Given the description of an element on the screen output the (x, y) to click on. 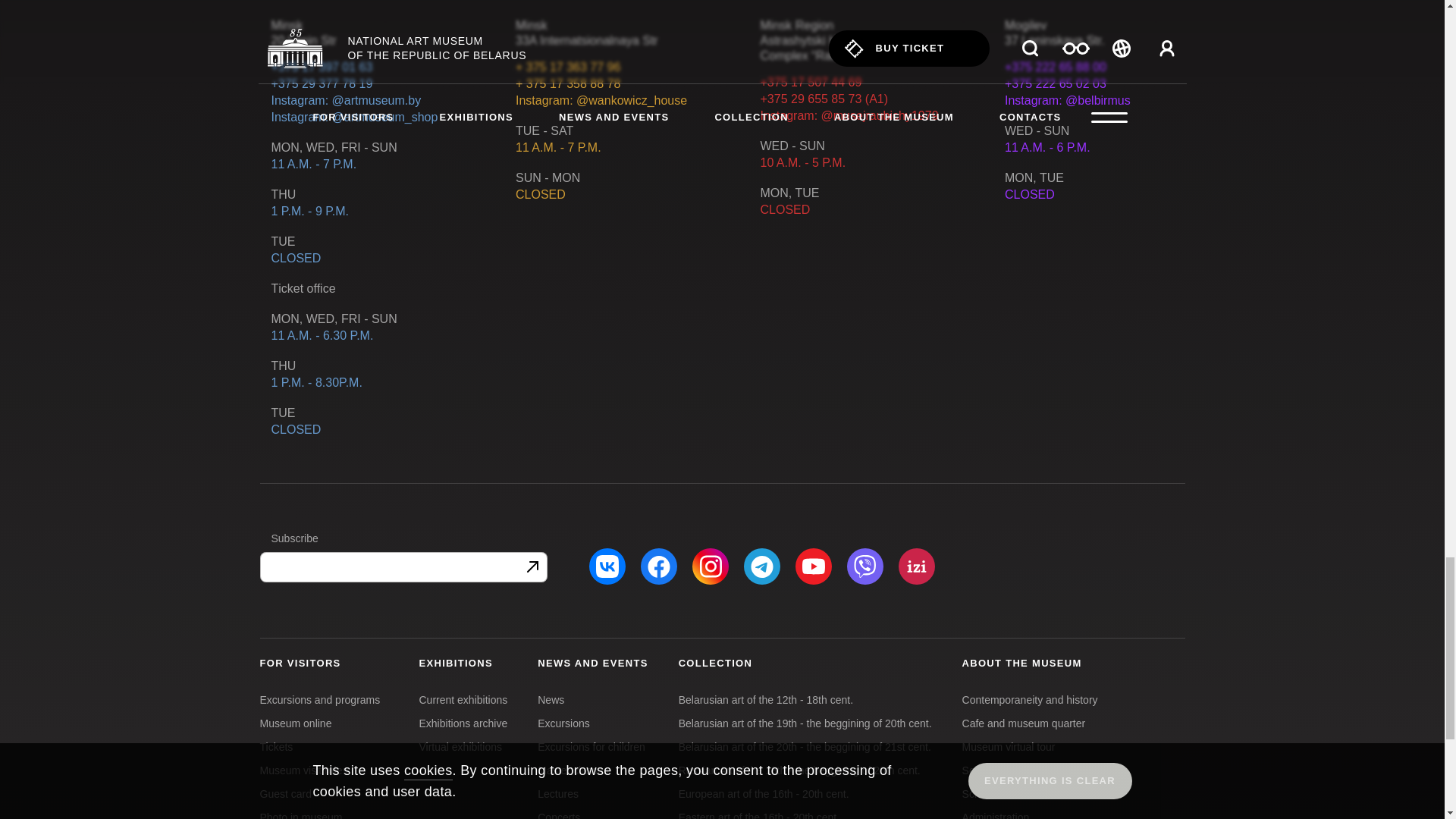
Contemporaneity and history (1029, 699)
Exhibitions archive (462, 723)
Excursions and programs (319, 699)
Cafe and museum quarter (1024, 723)
Guest card (285, 793)
Tickets (275, 746)
Current exhibitions (462, 699)
Administration (995, 815)
Museum visit rules (303, 770)
Scientific research (1005, 793)
